Given the description of an element on the screen output the (x, y) to click on. 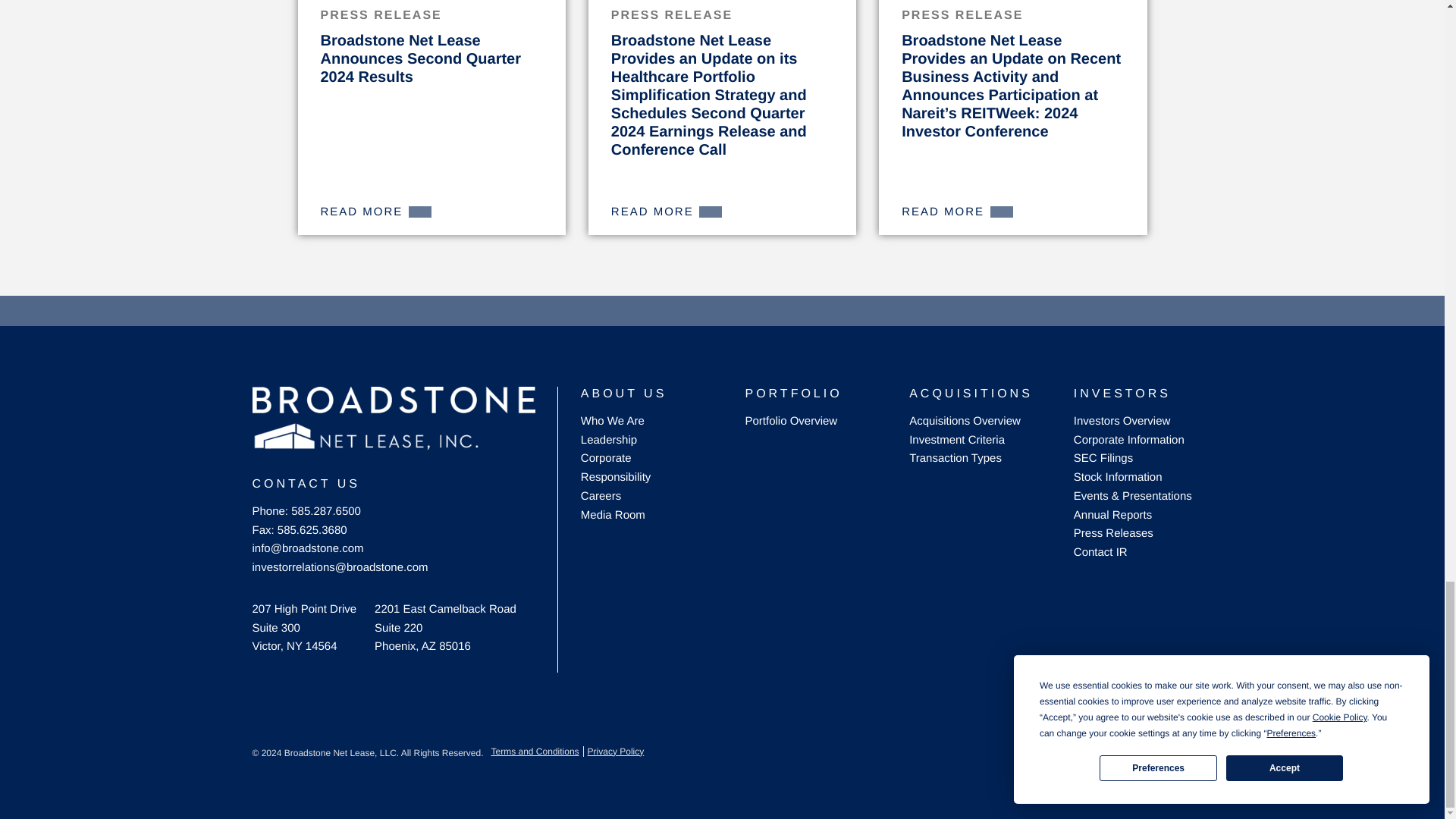
READ MORE (666, 211)
READ MORE (375, 211)
READ MORE (957, 211)
Leadership (608, 440)
Broadstone Net Lease Announces Second Quarter 2024 Results (420, 58)
Who We Are (612, 420)
